Given the description of an element on the screen output the (x, y) to click on. 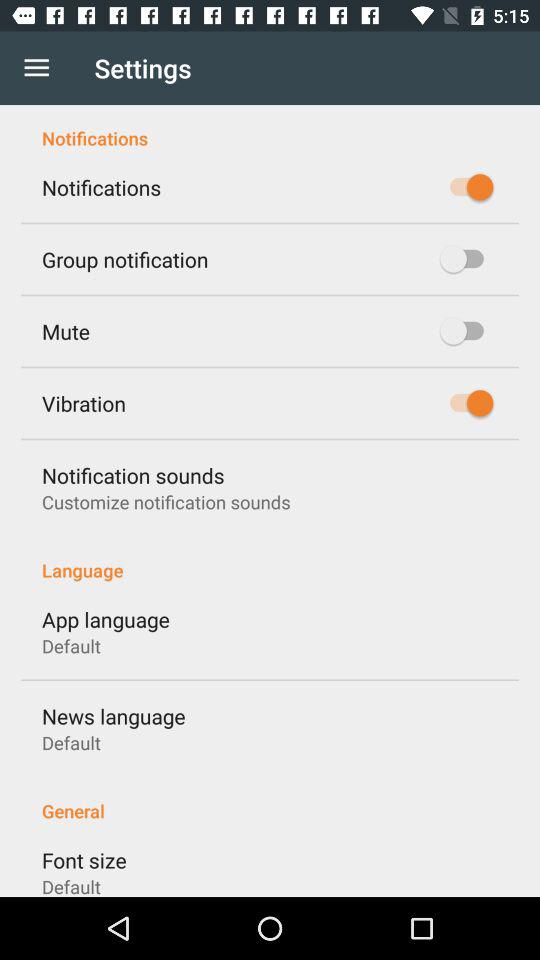
turn off the icon below the default icon (113, 715)
